Given the description of an element on the screen output the (x, y) to click on. 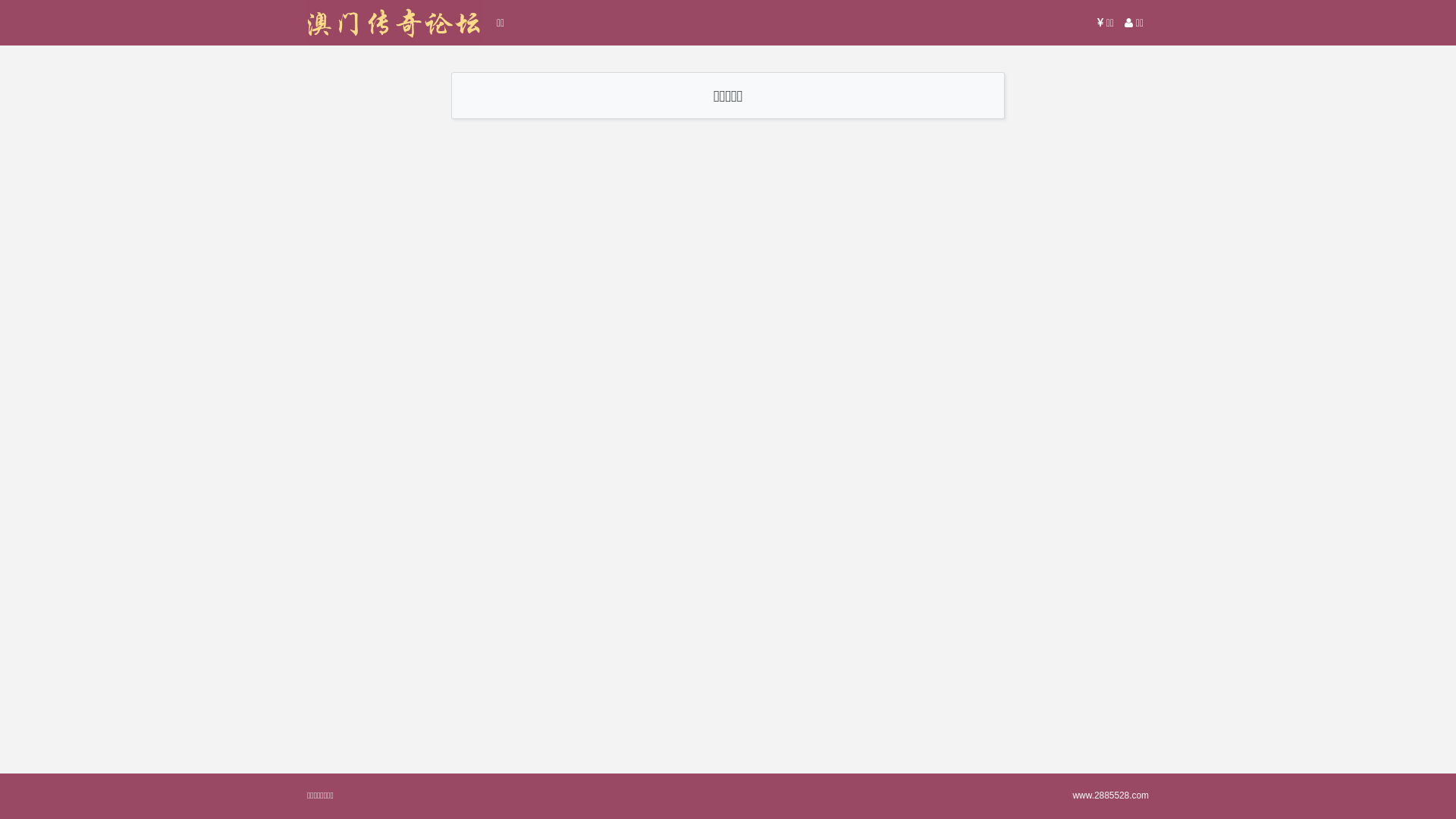
www.2885528.com Element type: text (1110, 795)
